Given the description of an element on the screen output the (x, y) to click on. 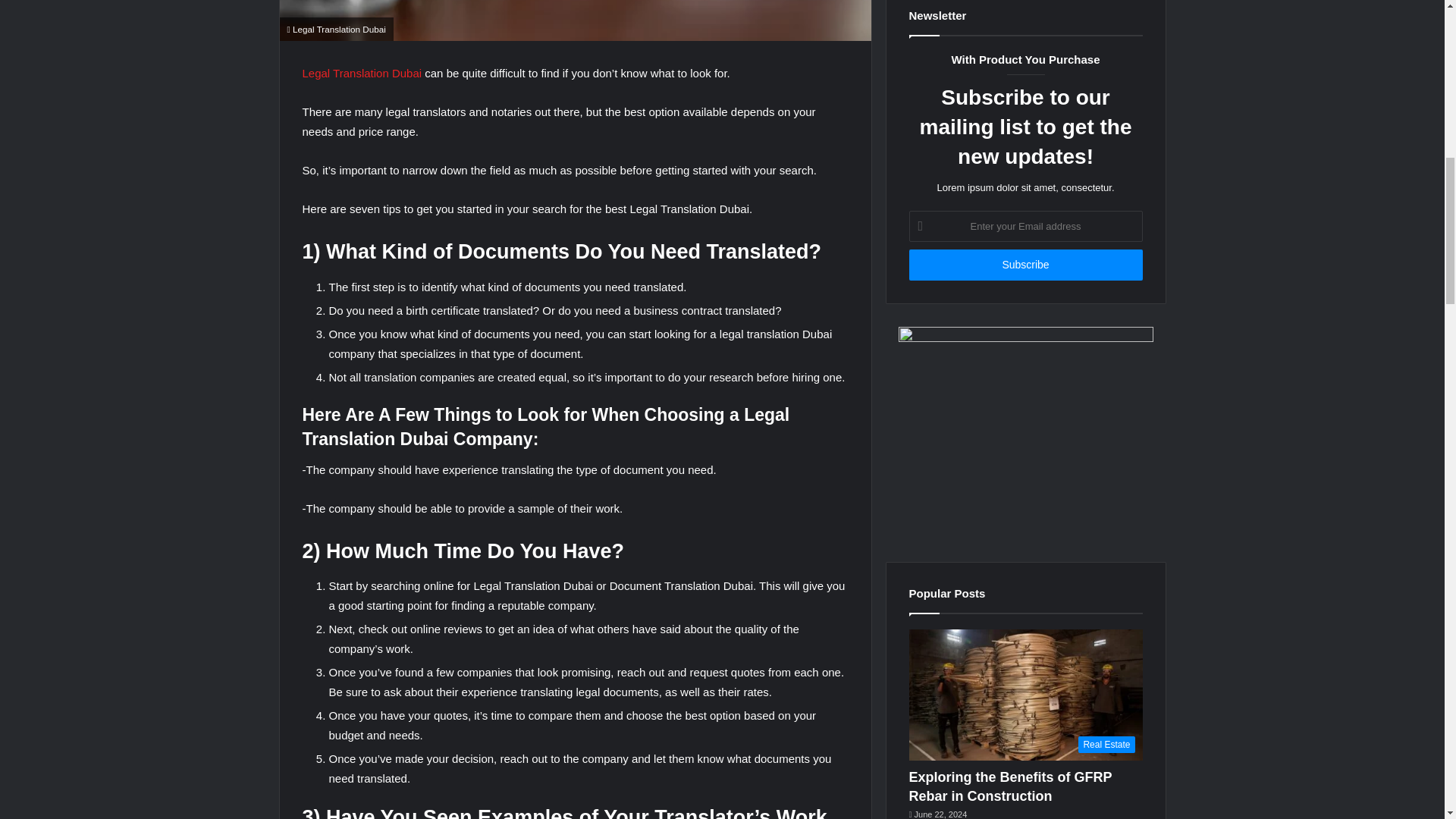
Subscribe (1025, 264)
Legal Translation Dubai (361, 72)
